Given the description of an element on the screen output the (x, y) to click on. 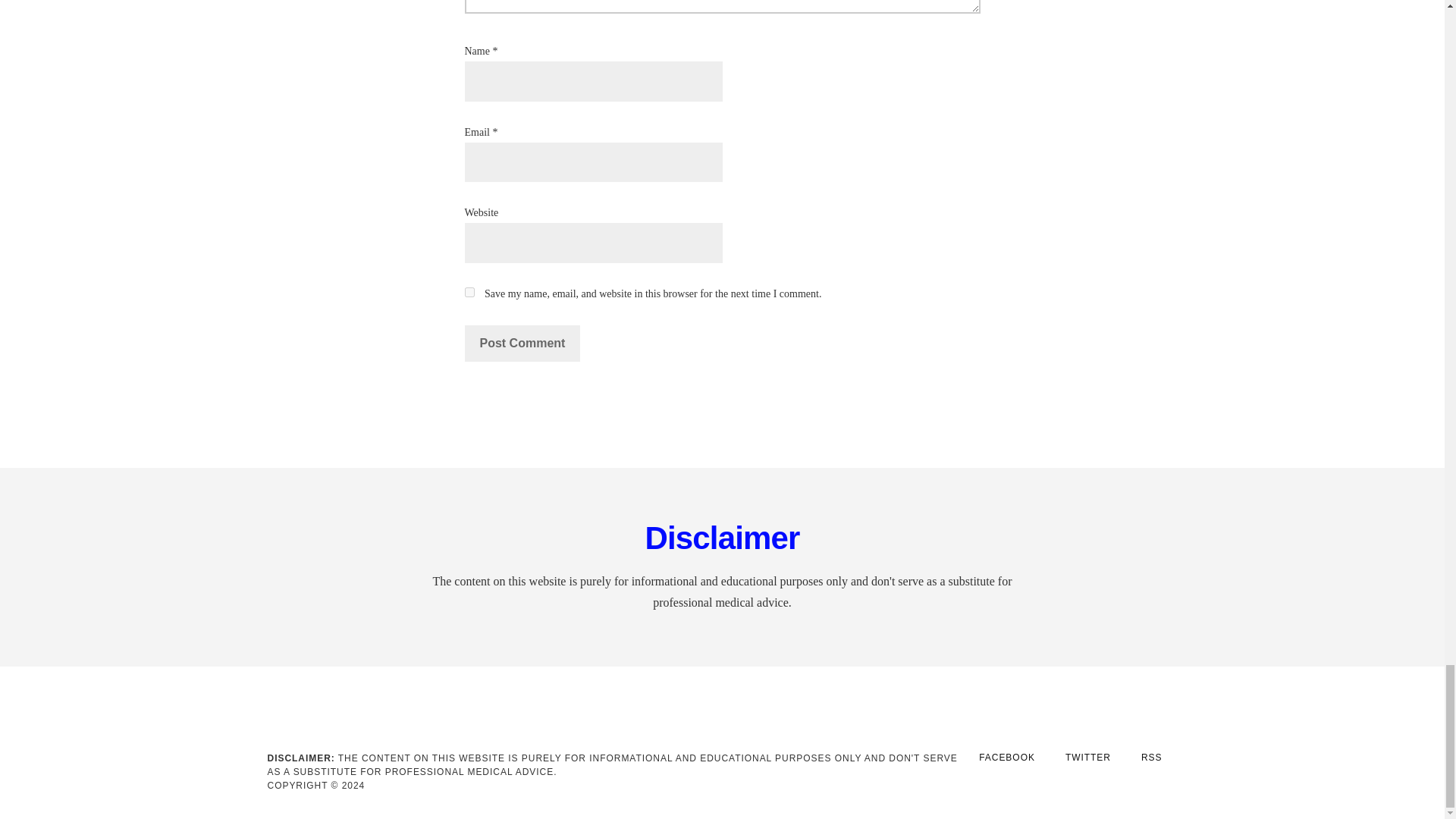
yes (469, 292)
Post Comment (521, 343)
Post Comment (521, 343)
RSS (1151, 757)
TWITTER (1087, 757)
FACEBOOK (1006, 757)
